Given the description of an element on the screen output the (x, y) to click on. 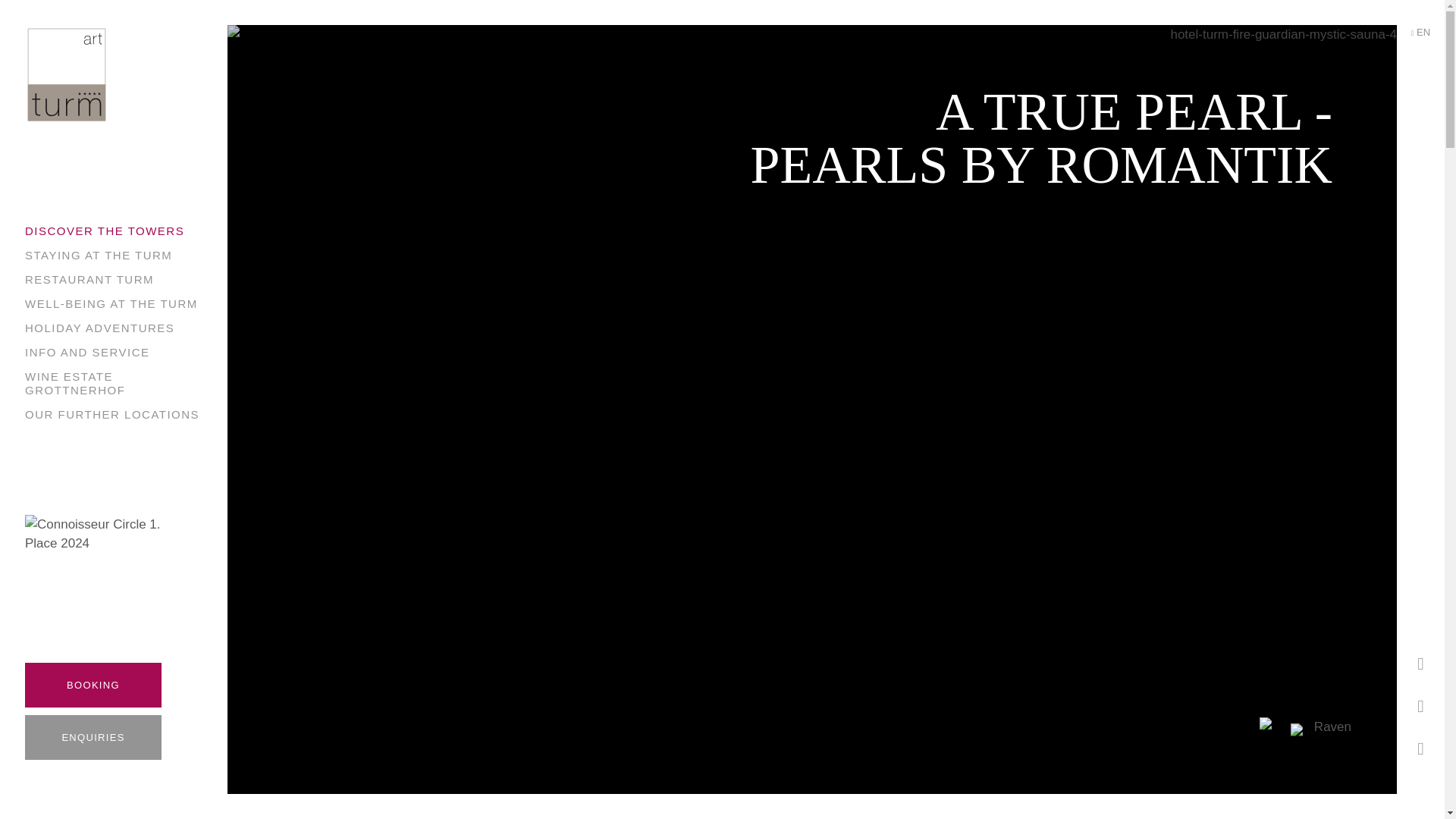
STAYING AT THE TURM (97, 254)
WELL-BEING AT THE TURM (111, 303)
HOLIDAY ADVENTURES (99, 327)
RESTAURANT TURM (89, 278)
DISCOVER THE TOWERS (104, 230)
